Given the description of an element on the screen output the (x, y) to click on. 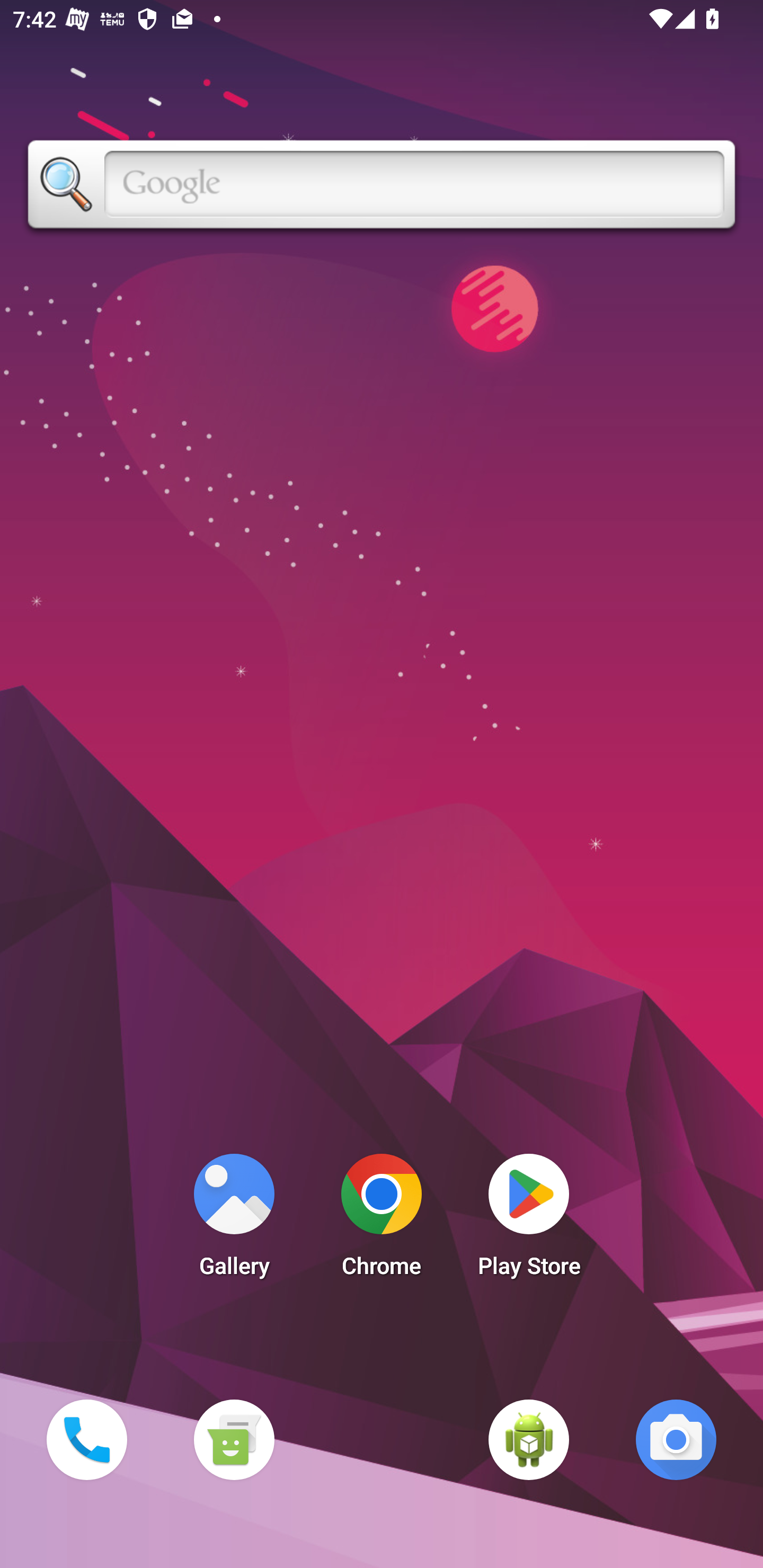
Gallery (233, 1220)
Chrome (381, 1220)
Play Store (528, 1220)
Phone (86, 1439)
Messaging (233, 1439)
WebView Browser Tester (528, 1439)
Camera (676, 1439)
